Given the description of an element on the screen output the (x, y) to click on. 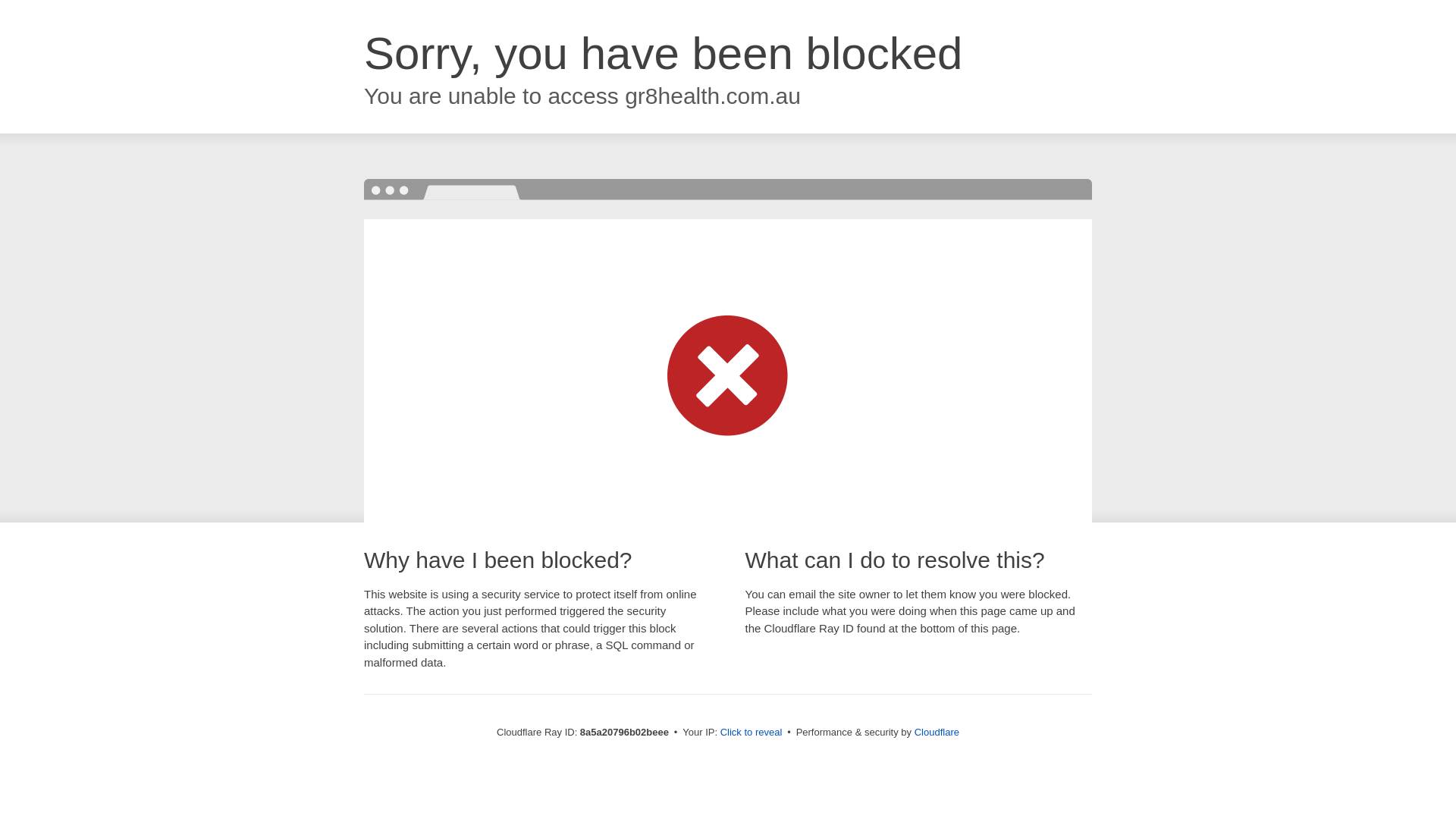
Cloudflare (936, 731)
Click to reveal (751, 732)
